Given the description of an element on the screen output the (x, y) to click on. 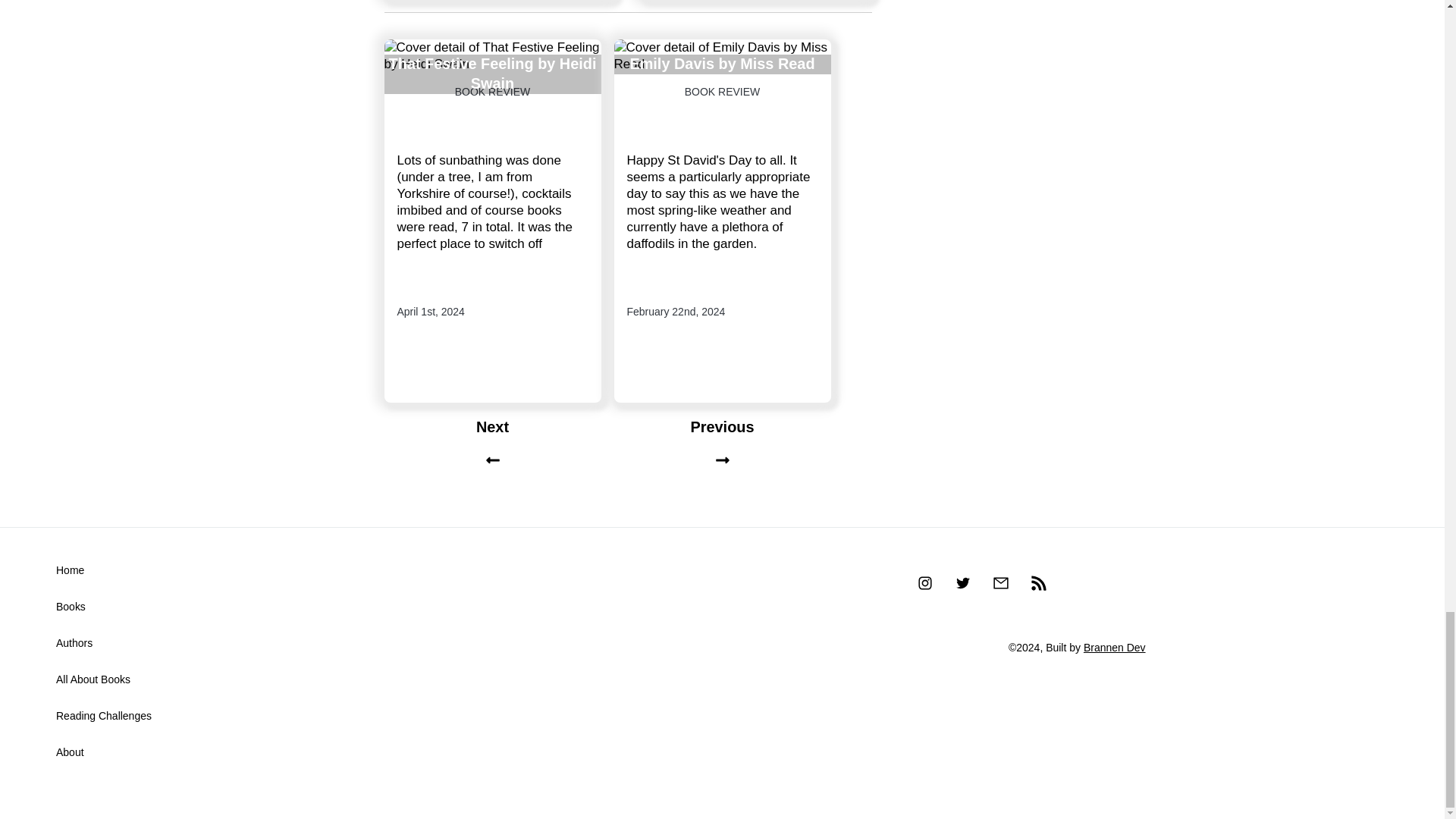
Books (70, 606)
Brannen Dev (1114, 647)
About (70, 752)
All About Books (93, 679)
Next (491, 444)
Previous (722, 444)
Reading Challenges (103, 715)
Authors (74, 643)
Home (70, 570)
